Given the description of an element on the screen output the (x, y) to click on. 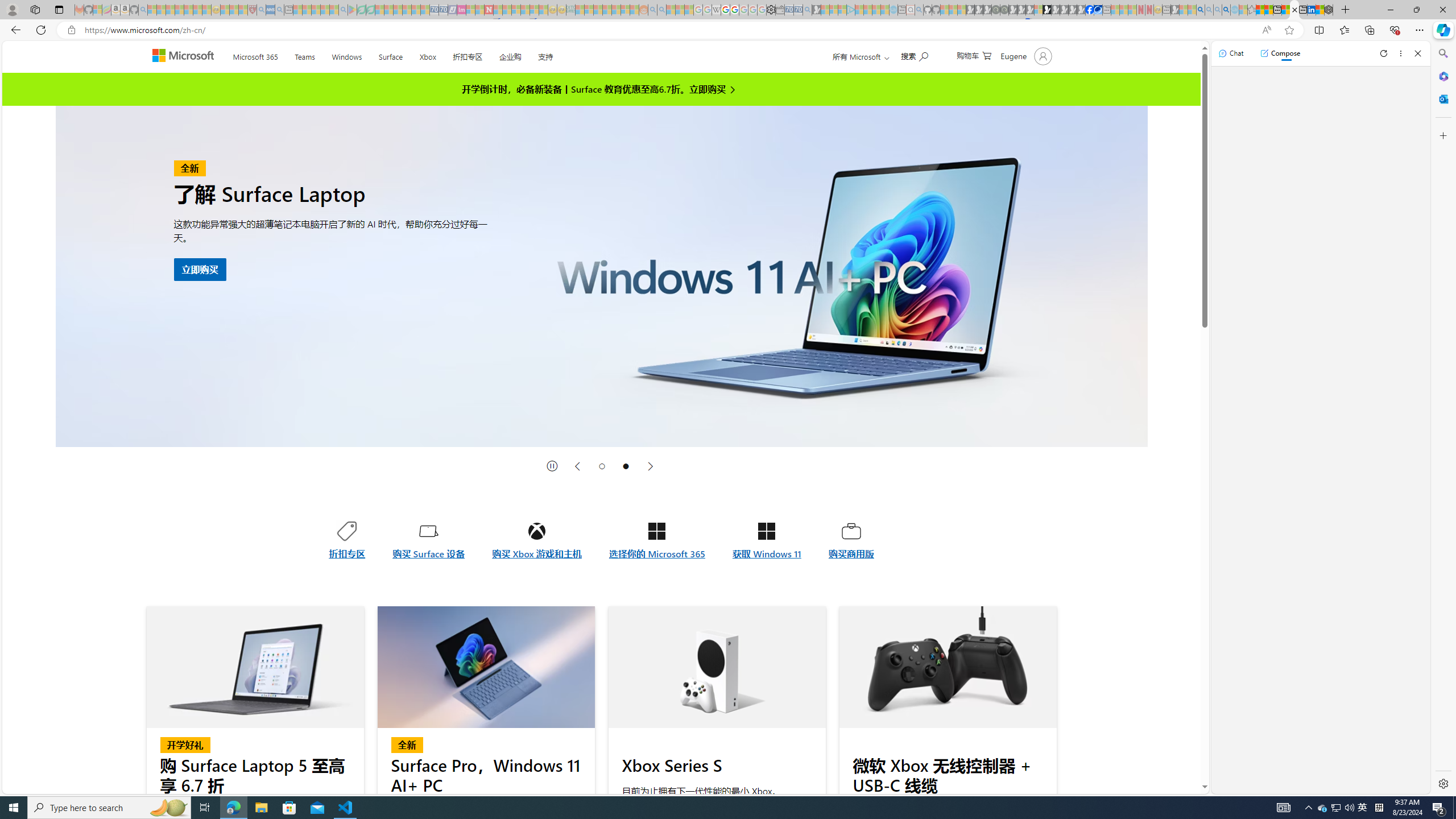
Microsoft-Report a Concern to Bing - Sleeping (97, 9)
14 Common Myths Debunked By Scientific Facts - Sleeping (506, 9)
Microsoft (184, 56)
Bing AI - Search (1200, 9)
LinkedIn (1311, 9)
Bluey: Let's Play! - Apps on Google Play - Sleeping (352, 9)
